Given the description of an element on the screen output the (x, y) to click on. 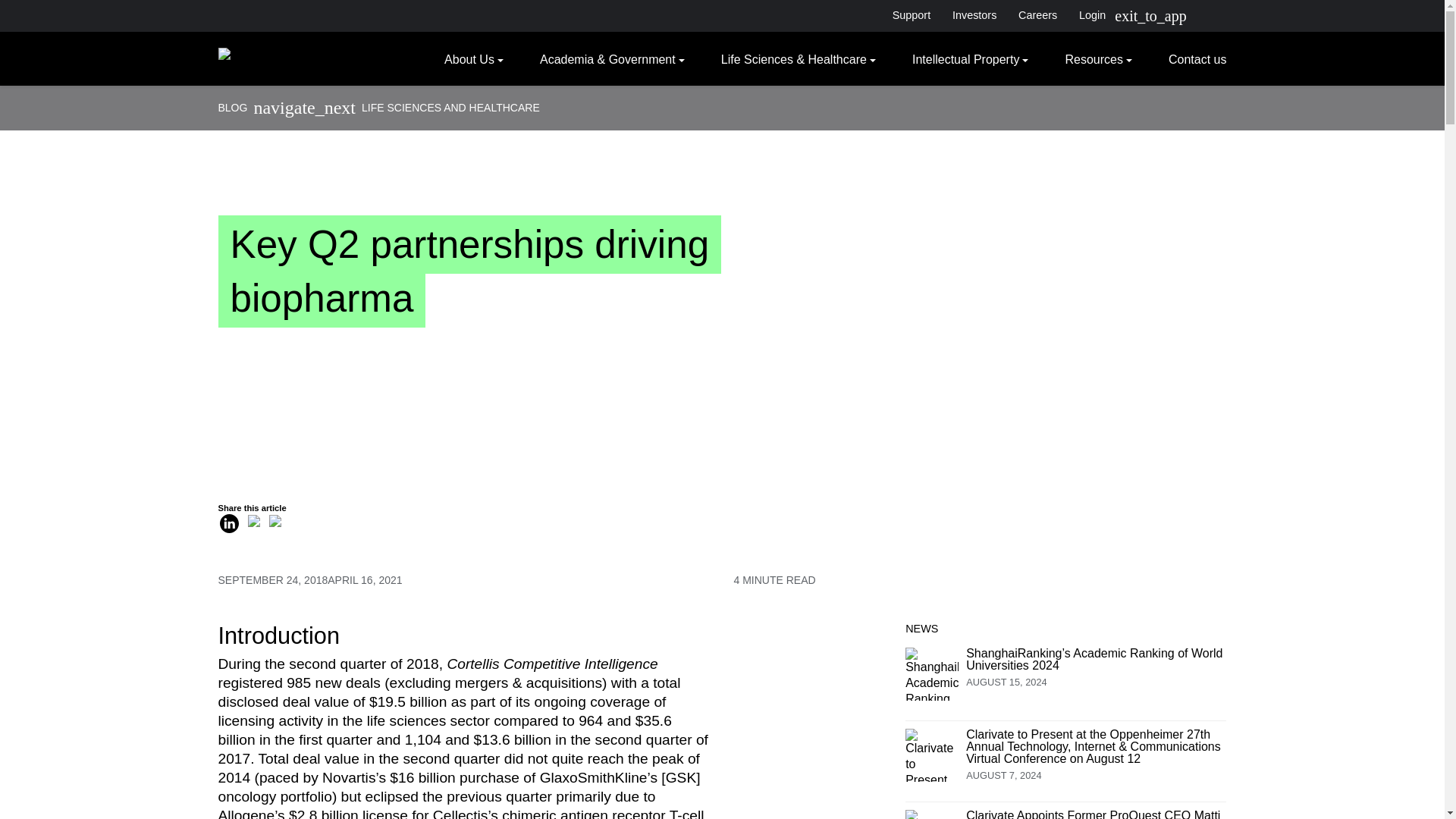
Investors (974, 15)
Careers (1037, 15)
Support (910, 15)
About Us (473, 58)
